Given the description of an element on the screen output the (x, y) to click on. 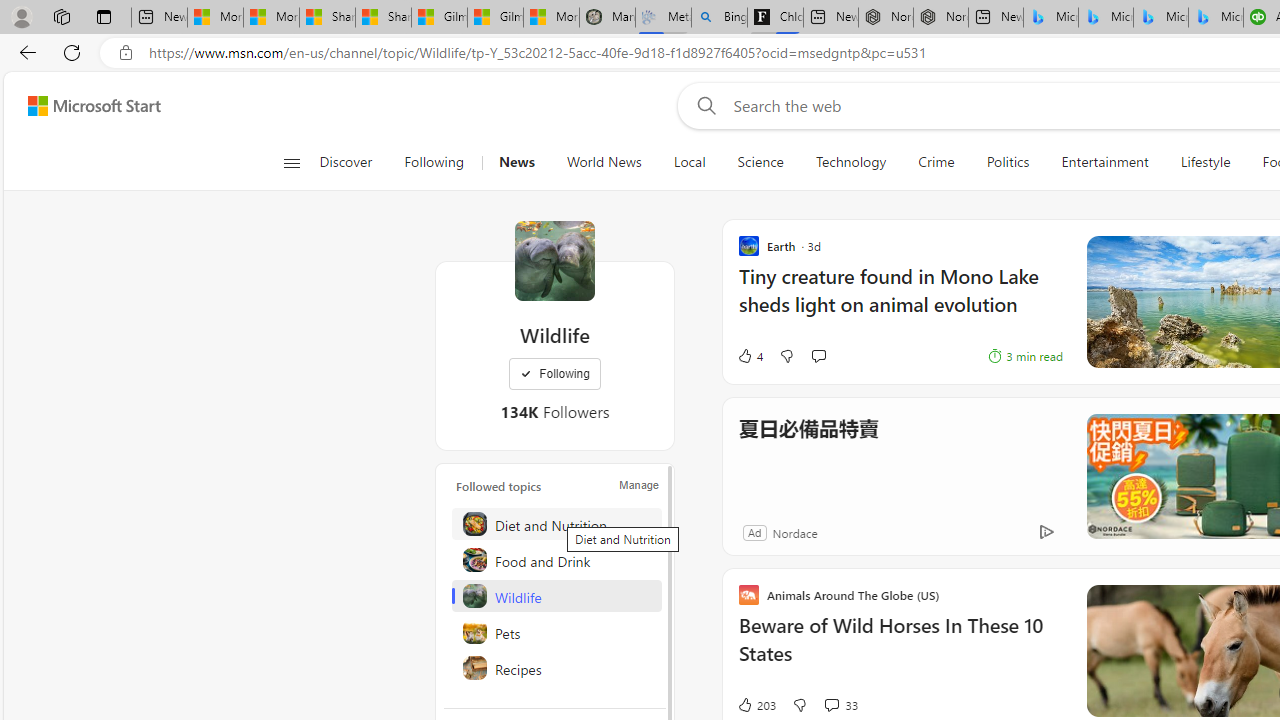
Chloe Sorvino (774, 17)
Crime (935, 162)
Open navigation menu (291, 162)
Skip to footer (82, 105)
Wildlife (554, 260)
Science (760, 162)
Politics (1007, 162)
Local (688, 162)
Skip to content (86, 105)
Entertainment (1104, 162)
